Given the description of an element on the screen output the (x, y) to click on. 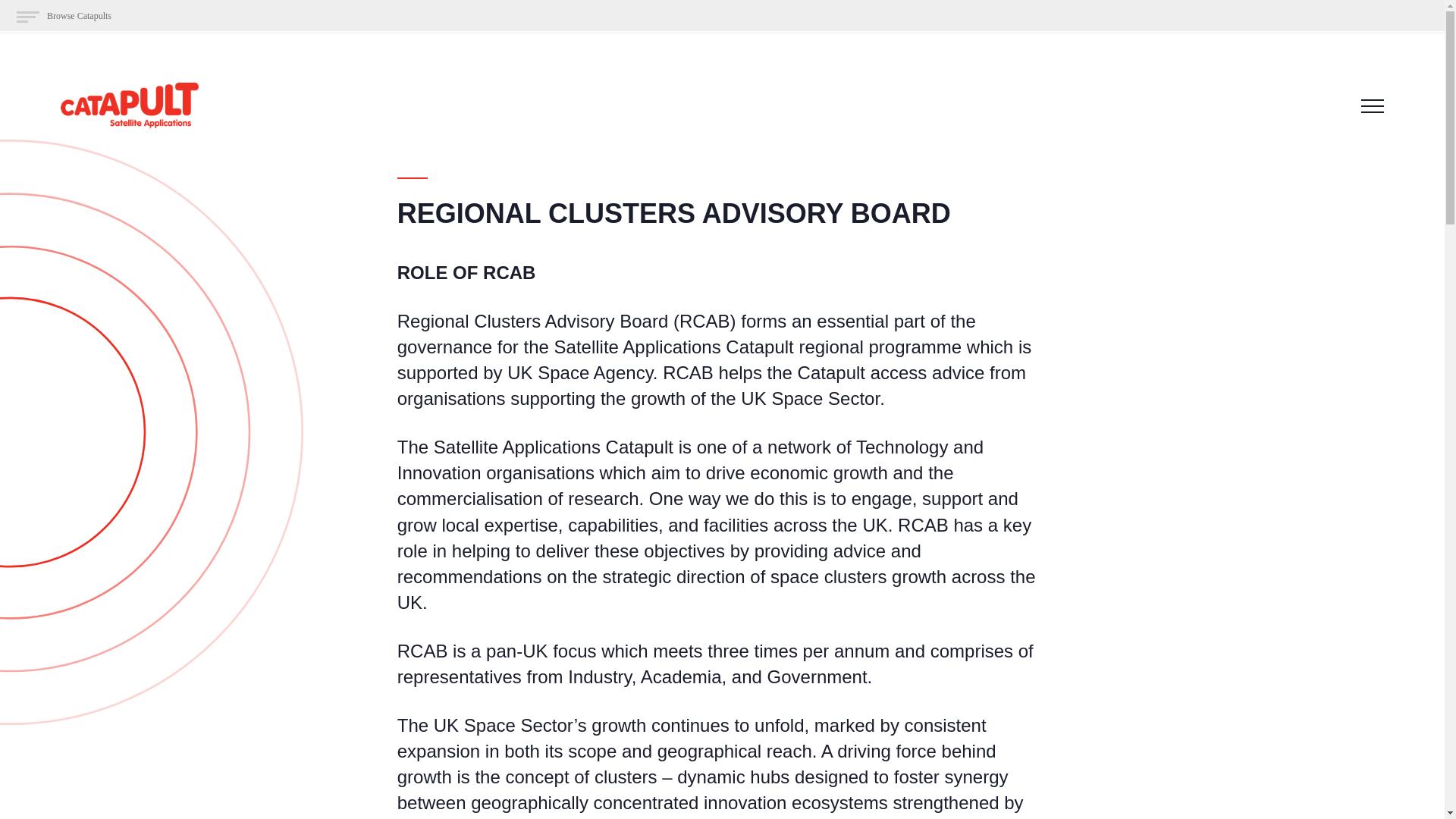
Browse Catapults (64, 17)
Catapult Websites (64, 17)
Website Search (56, 12)
